Given the description of an element on the screen output the (x, y) to click on. 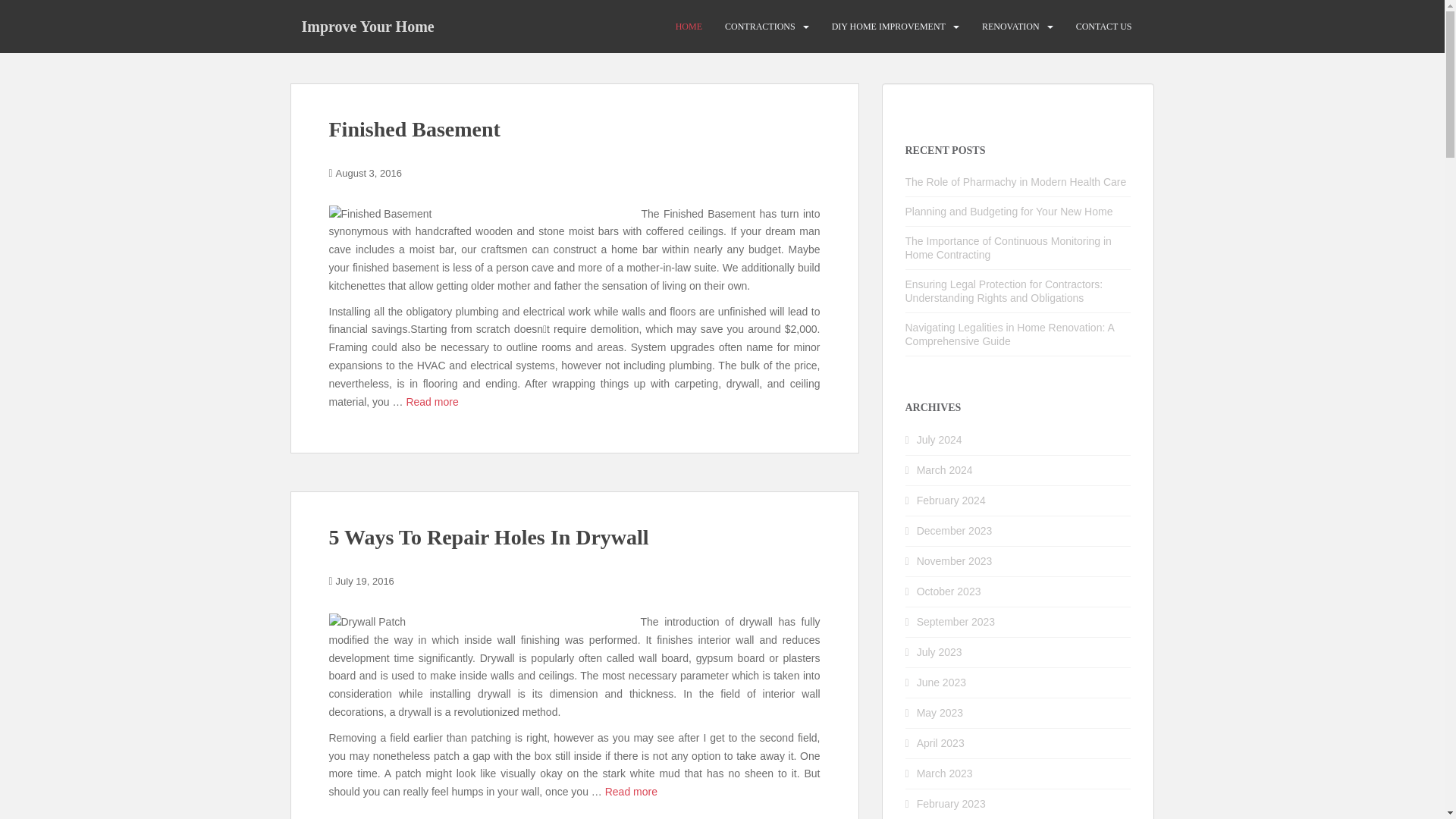
Read more (432, 401)
August 3, 2016 (368, 173)
CONTACT US (1103, 26)
Read more (631, 791)
CONTRACTIONS (759, 26)
RENOVATION (1010, 26)
Improve Your Home (367, 26)
DIY HOME IMPROVEMENT (887, 26)
Finished Basement (414, 128)
July 19, 2016 (365, 581)
